Given the description of an element on the screen output the (x, y) to click on. 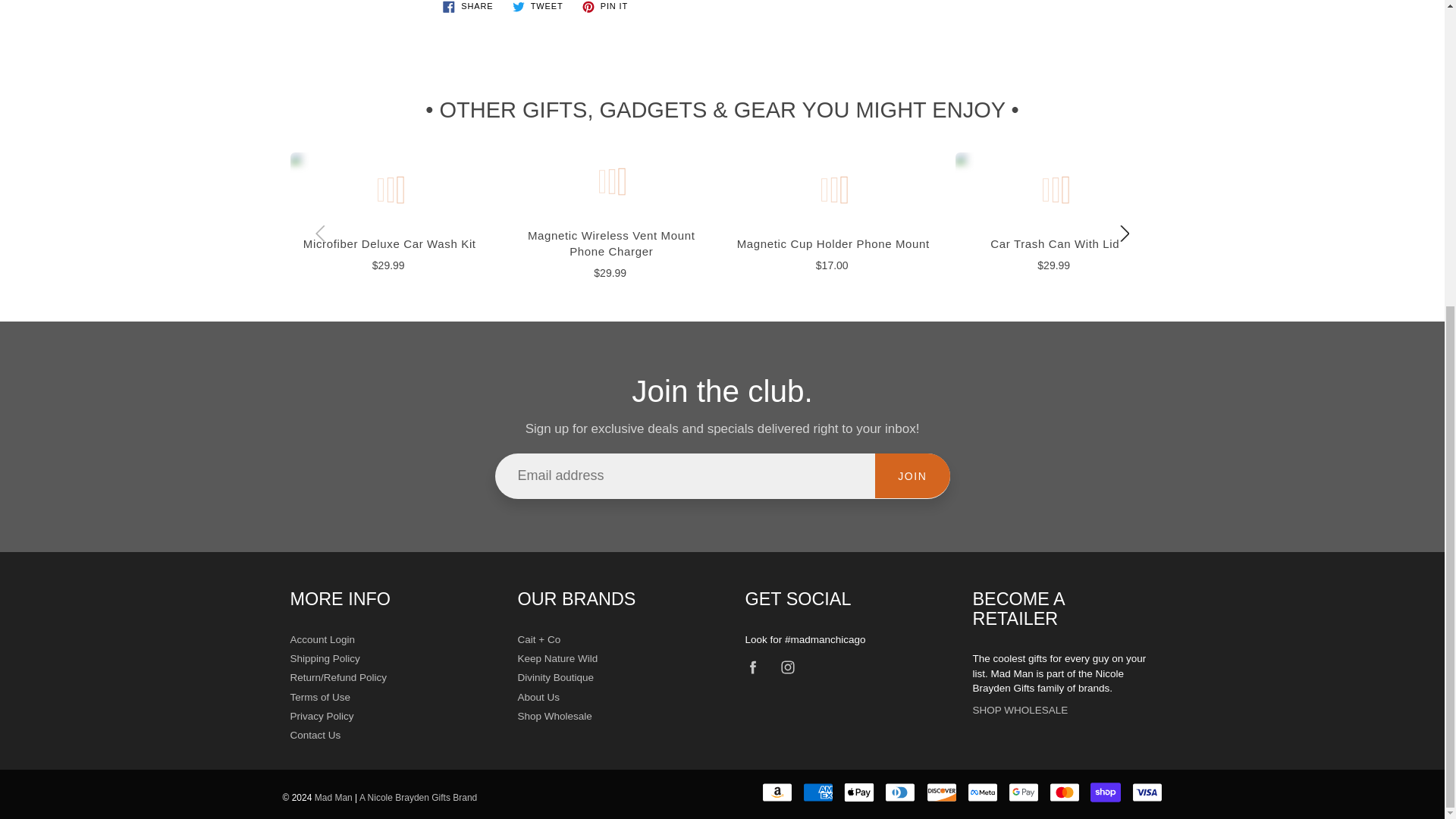
Pin on Pinterest (604, 7)
Visa (1146, 792)
Diners Club (900, 792)
Google Pay (1024, 792)
Instagram (787, 667)
Amazon (776, 792)
Share on Facebook (467, 7)
American Express (817, 792)
Shop Pay (1105, 792)
Mastercard (1064, 792)
